Given the description of an element on the screen output the (x, y) to click on. 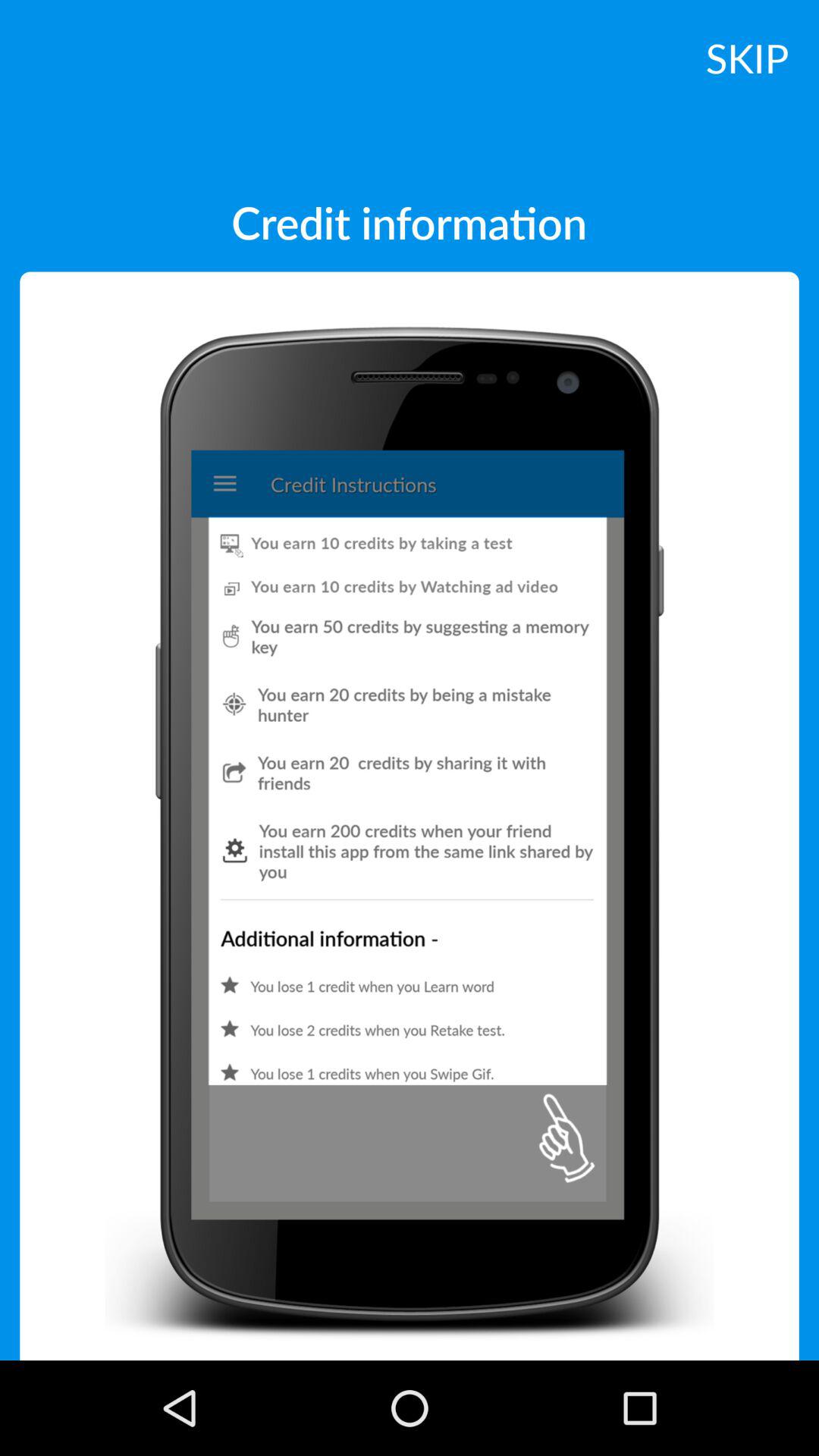
swipe until skip (747, 57)
